Given the description of an element on the screen output the (x, y) to click on. 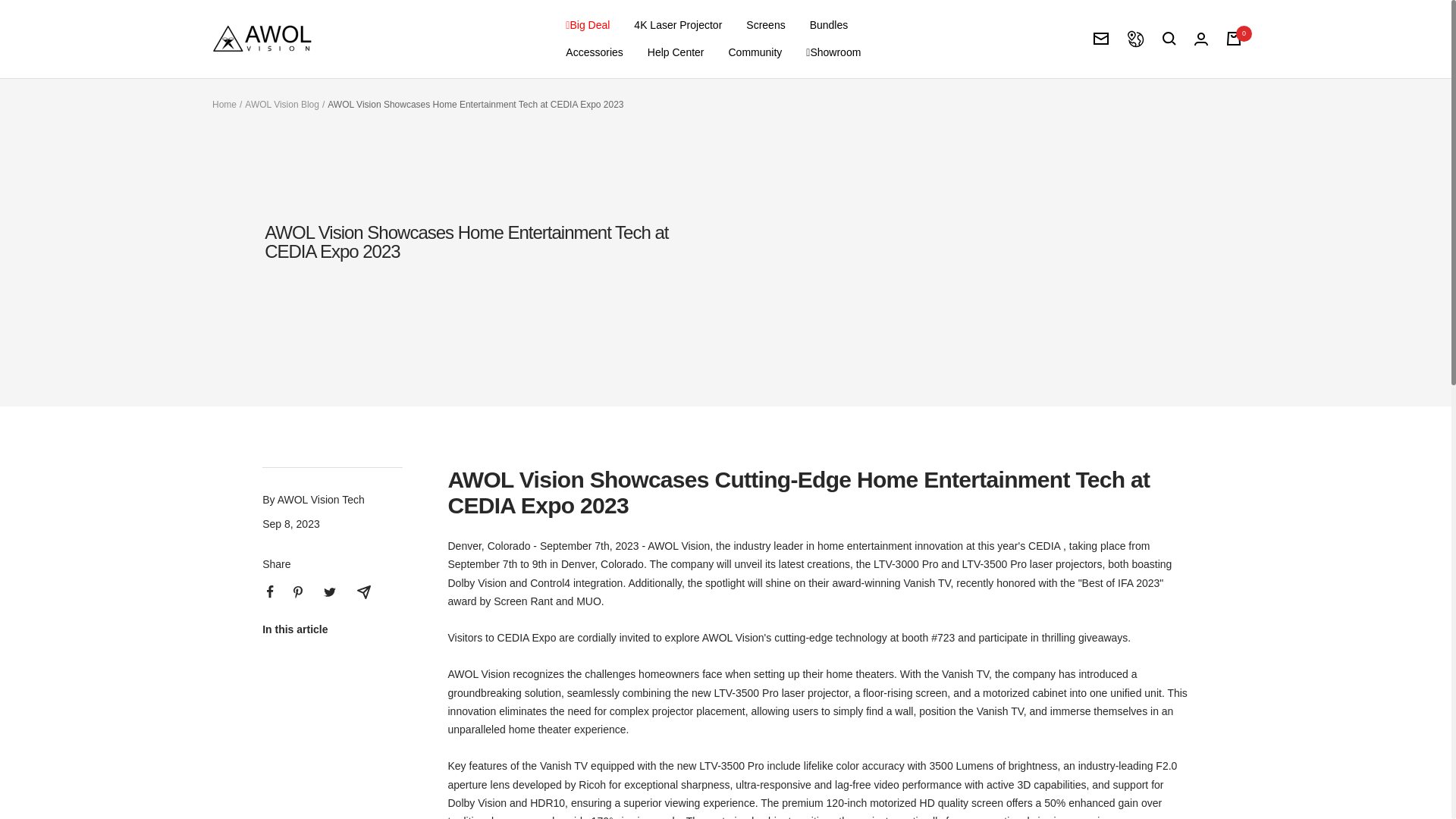
0 (1233, 38)
4K Laser Projector (677, 24)
Accessories (594, 52)
Screens (764, 24)
Help Center (675, 52)
Newsletter (1100, 38)
Community (754, 52)
AWOL Vision (262, 38)
Bundles (828, 24)
